Given the description of an element on the screen output the (x, y) to click on. 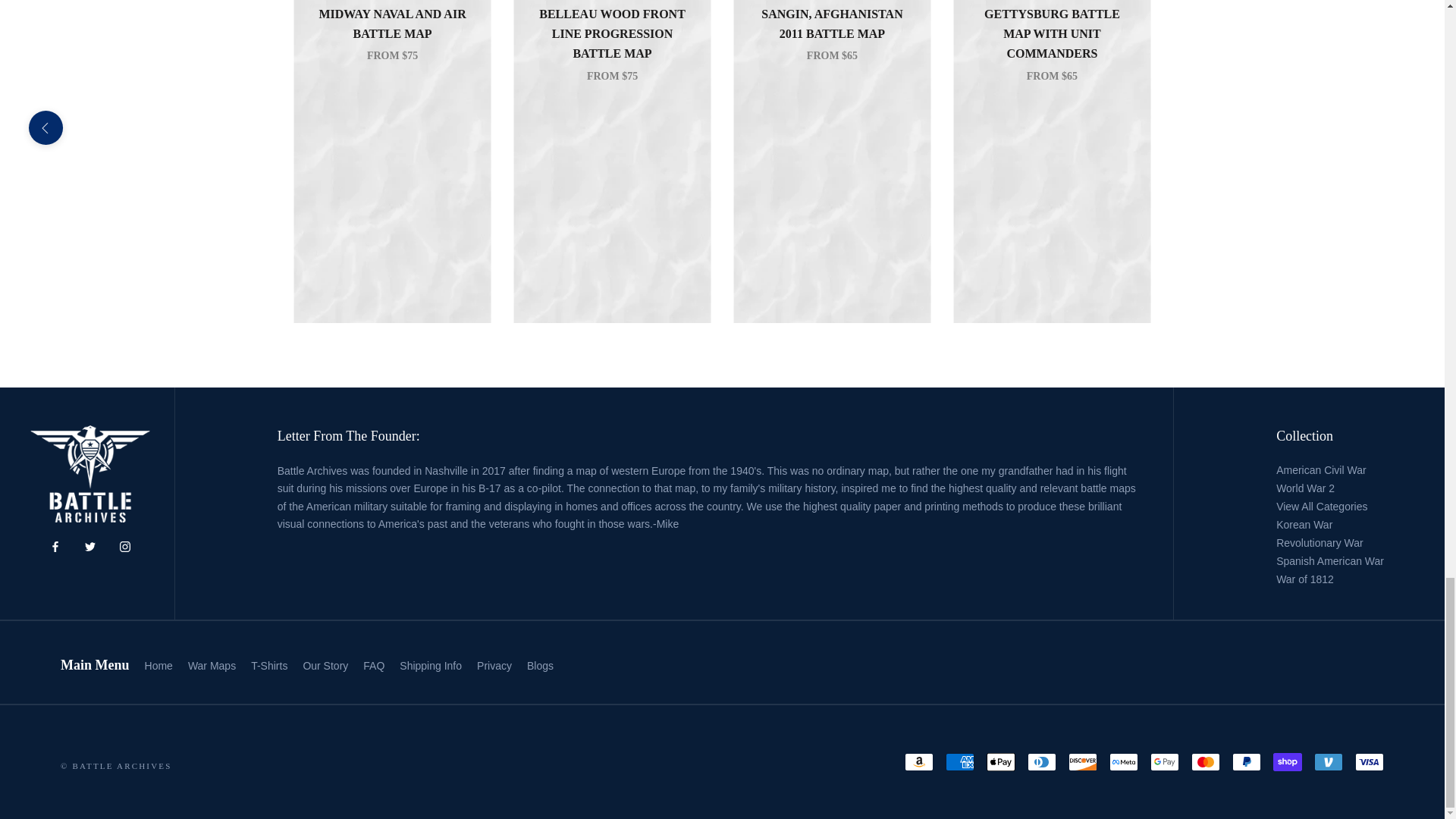
Shop Pay (1286, 761)
Venmo (1328, 761)
Mastercard (1205, 761)
PayPal (1245, 761)
American Express (959, 761)
Discover (1082, 761)
Google Pay (1164, 761)
Meta Pay (1123, 761)
Amazon (918, 761)
Visa (1369, 761)
Apple Pay (1000, 761)
Diners Club (1042, 761)
